Given the description of an element on the screen output the (x, y) to click on. 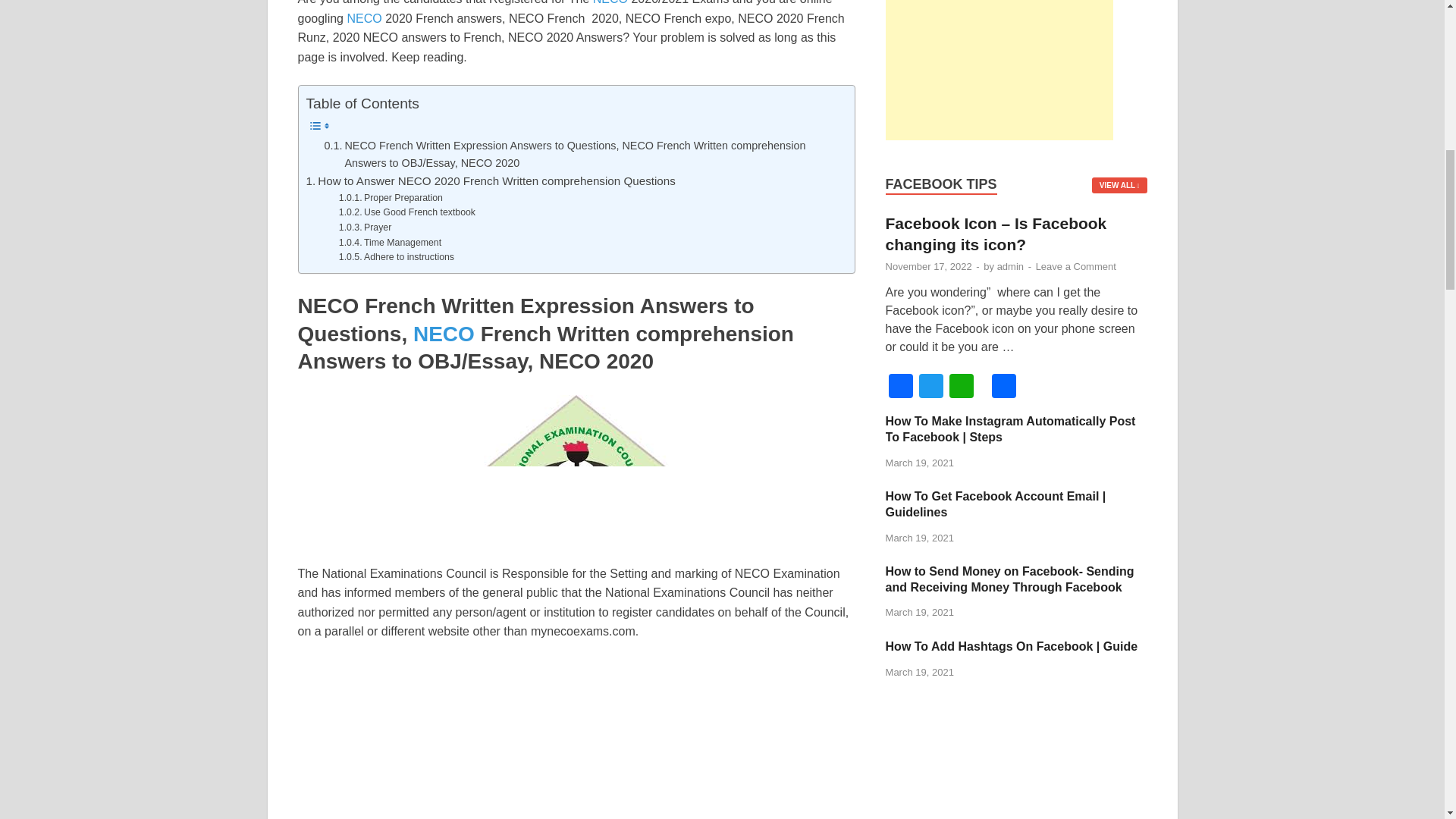
Adhere to instructions (396, 257)
Advertisement (575, 739)
NECO (609, 2)
NECO (363, 18)
Time Management (390, 242)
Proper Preparation (390, 198)
Proper Preparation (390, 198)
Use Good French textbook (407, 212)
Prayer (365, 227)
